Given the description of an element on the screen output the (x, y) to click on. 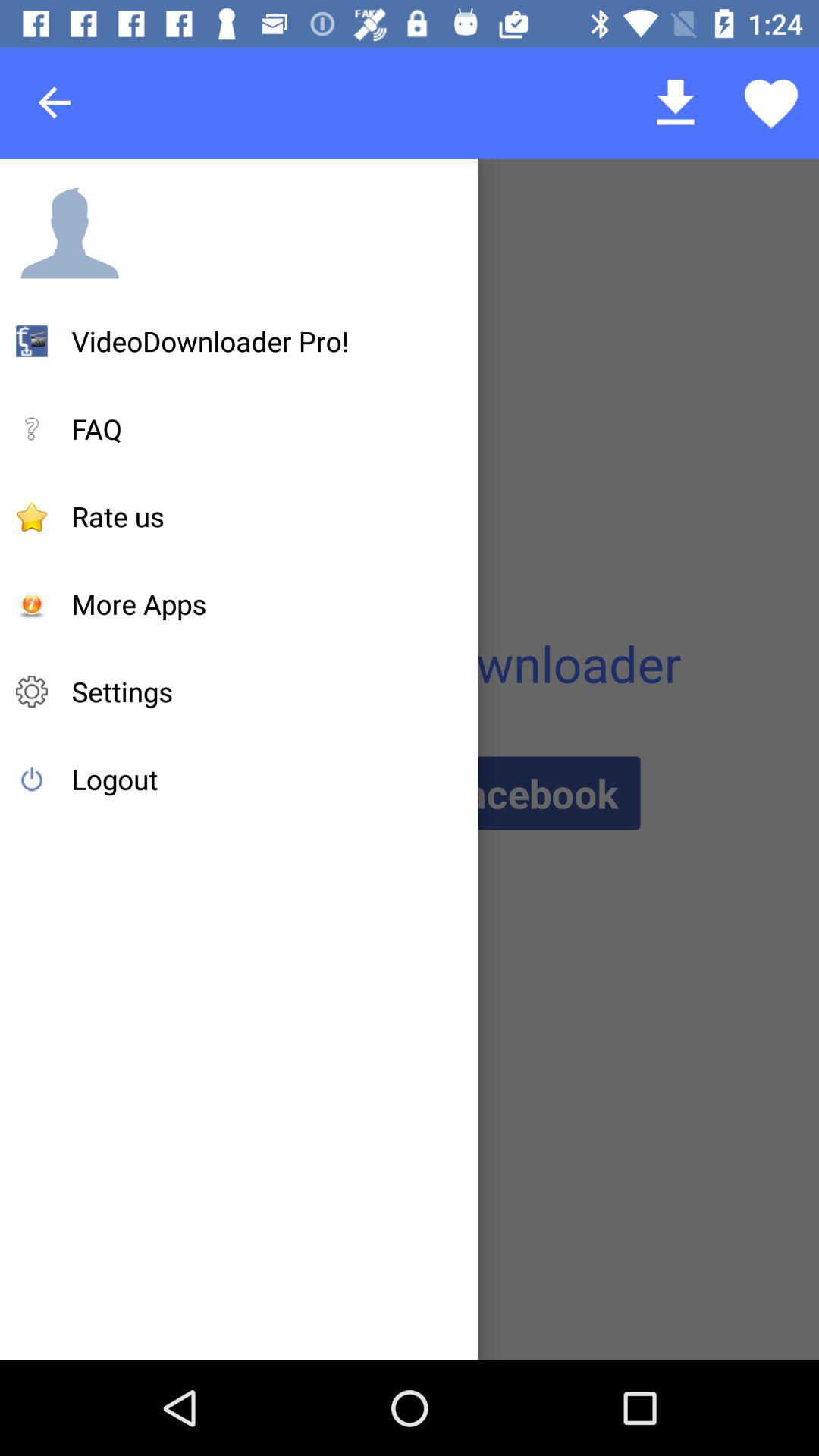
tap item above the rate us icon (96, 428)
